Given the description of an element on the screen output the (x, y) to click on. 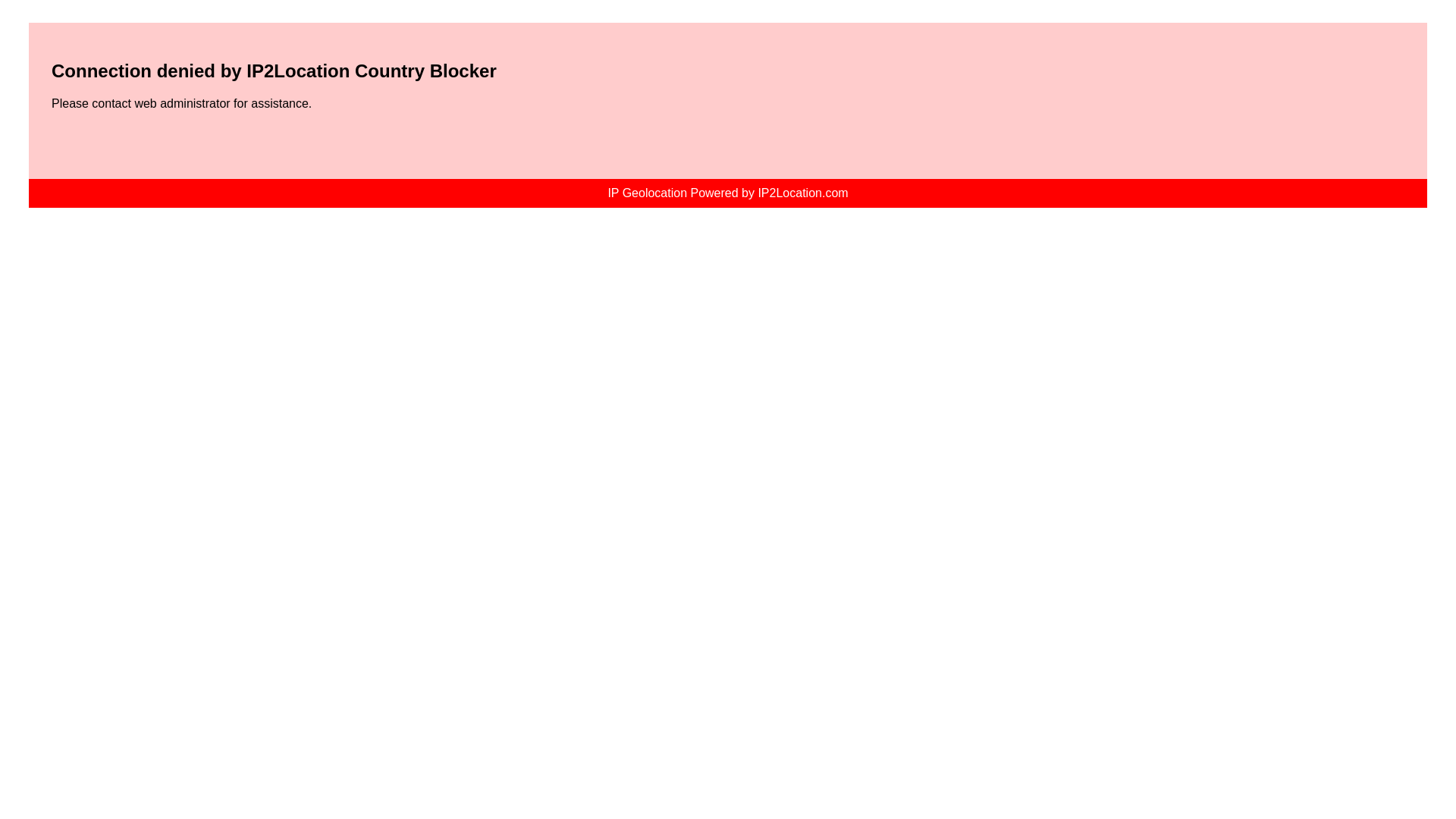
IP Geolocation Powered by IP2Location.com (727, 192)
